Given the description of an element on the screen output the (x, y) to click on. 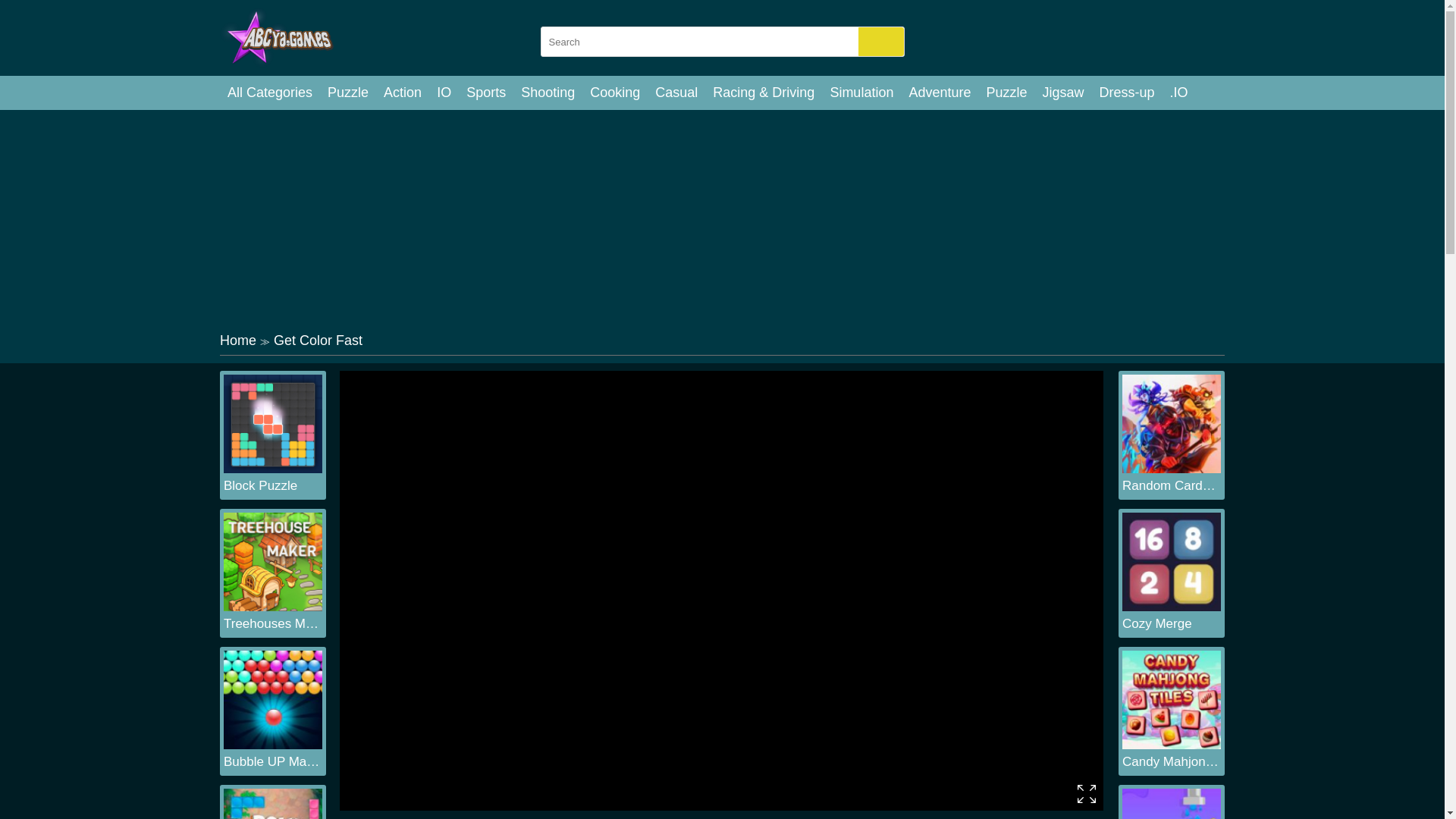
Casual (675, 92)
Action (402, 92)
All Categories (269, 92)
Shooting (547, 92)
Jigsaw (1063, 92)
Sports (485, 92)
All category (269, 92)
.IO (1178, 92)
Puzzle (1005, 92)
Shooting (547, 92)
Cooking (614, 92)
Simulation (861, 92)
Home (237, 340)
Action (402, 92)
Simulation (861, 92)
